Given the description of an element on the screen output the (x, y) to click on. 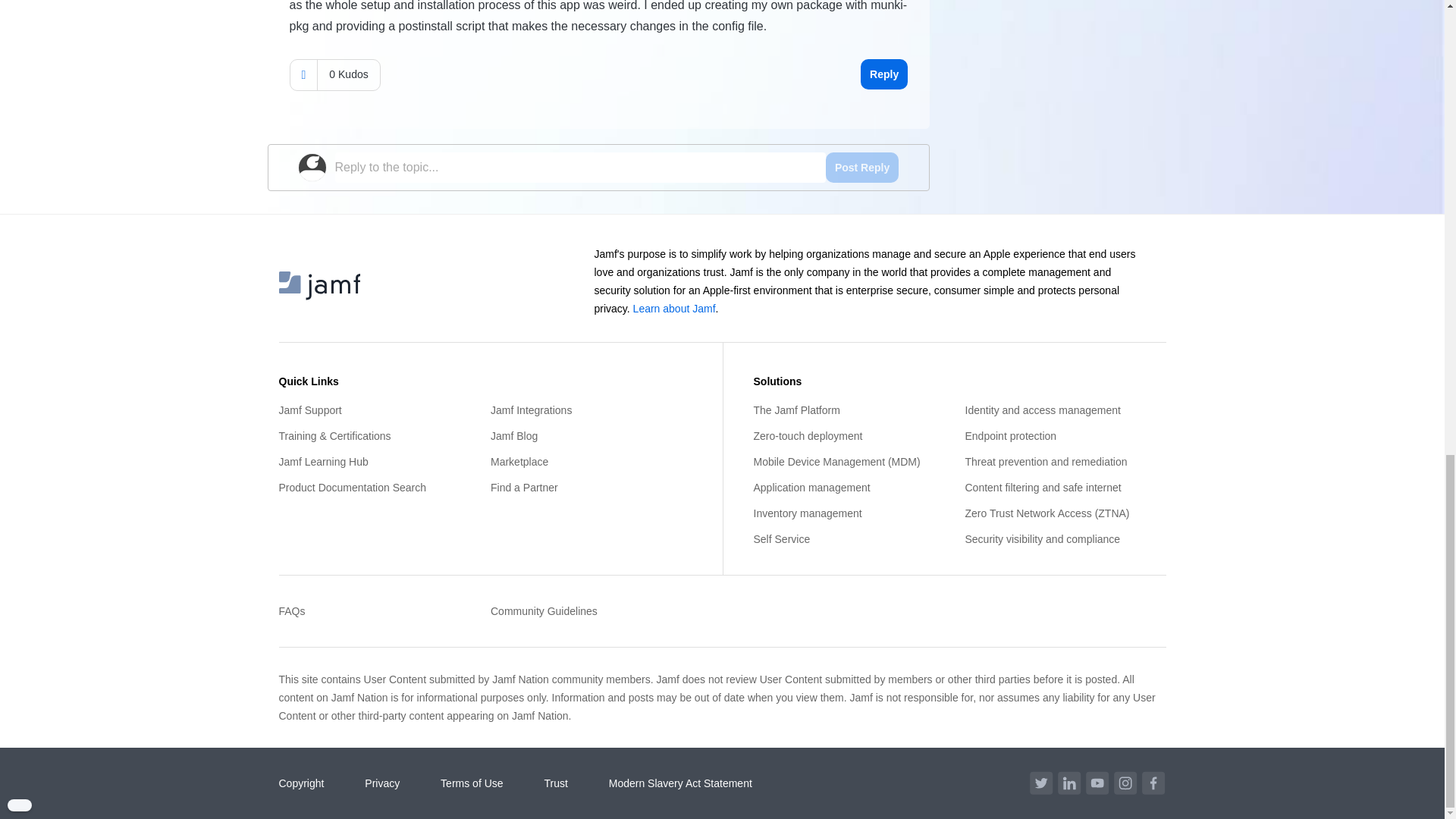
Post Reply (861, 167)
Reply (883, 73)
Click here to give kudos to this post. (303, 74)
The total number of kudos this post has received. (347, 73)
